Given the description of an element on the screen output the (x, y) to click on. 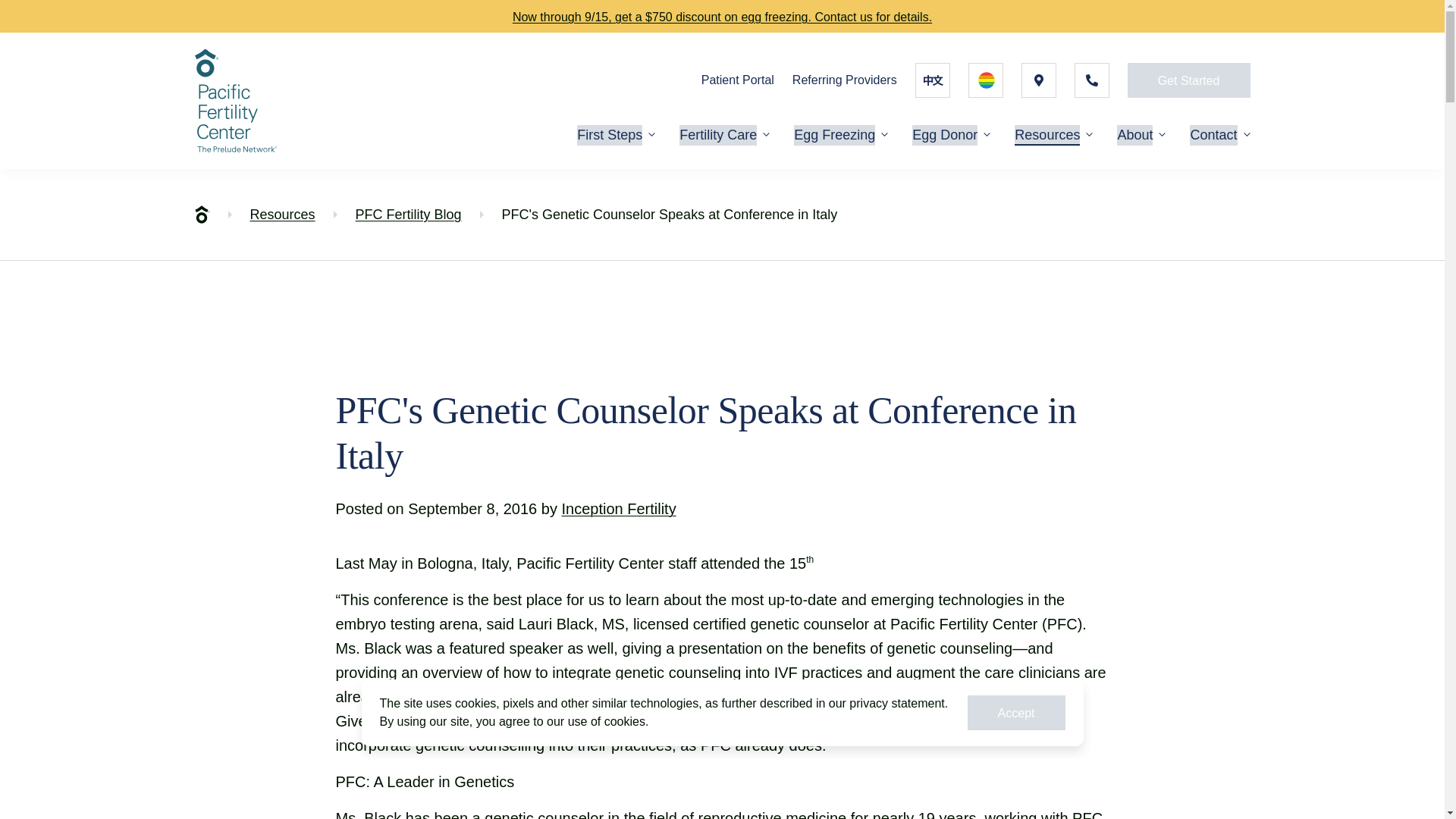
Referring Providers (844, 78)
About (1134, 134)
Patient Portal (737, 78)
Resources (1047, 134)
Fertility Care (718, 134)
Inception Fertility (617, 508)
Egg Freezing (834, 134)
Egg Donor (944, 134)
Resources (282, 214)
First Steps (609, 134)
